Given the description of an element on the screen output the (x, y) to click on. 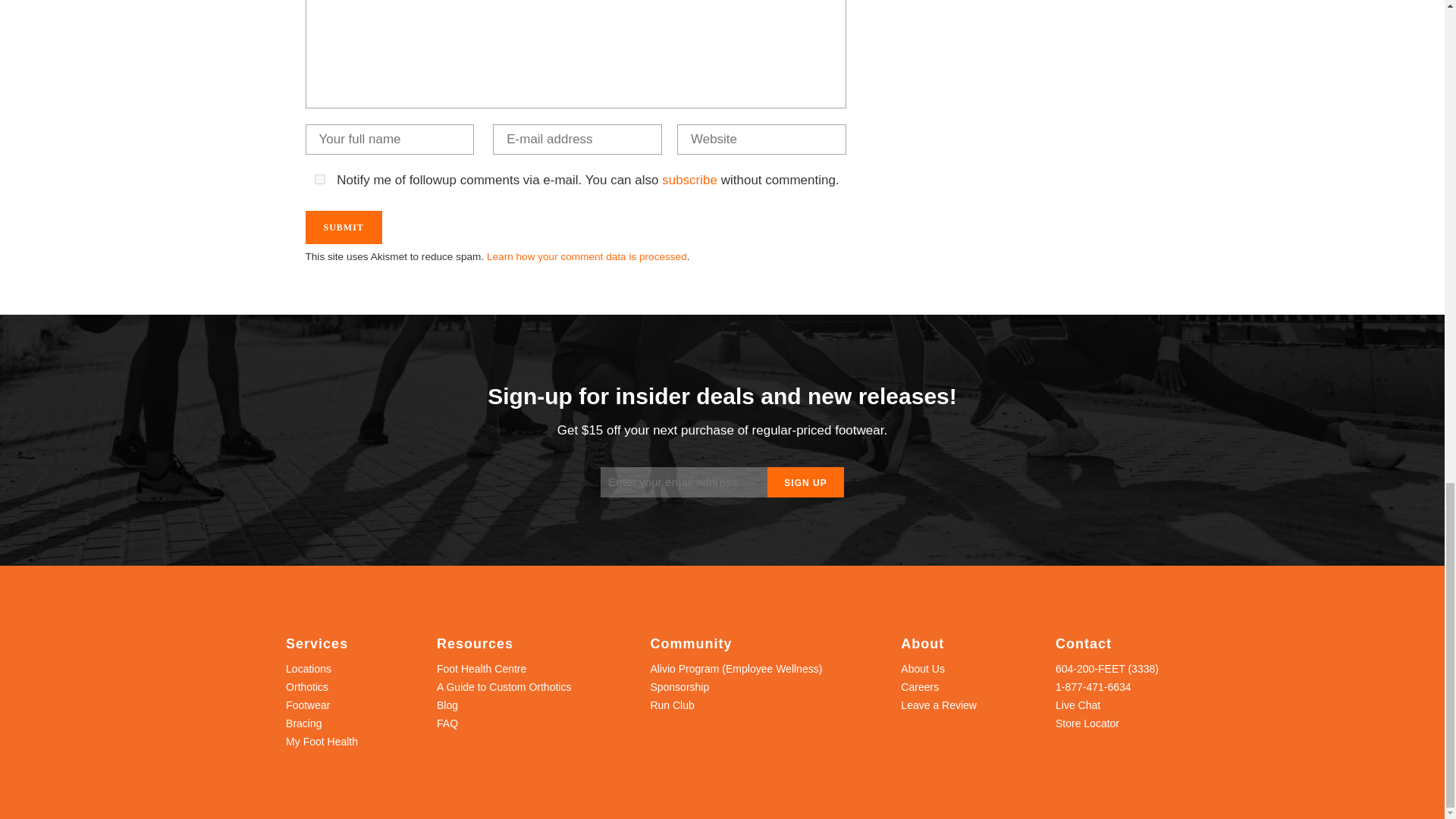
Submit (342, 227)
Sign up (805, 481)
subscribe (689, 179)
yes (318, 179)
